Given the description of an element on the screen output the (x, y) to click on. 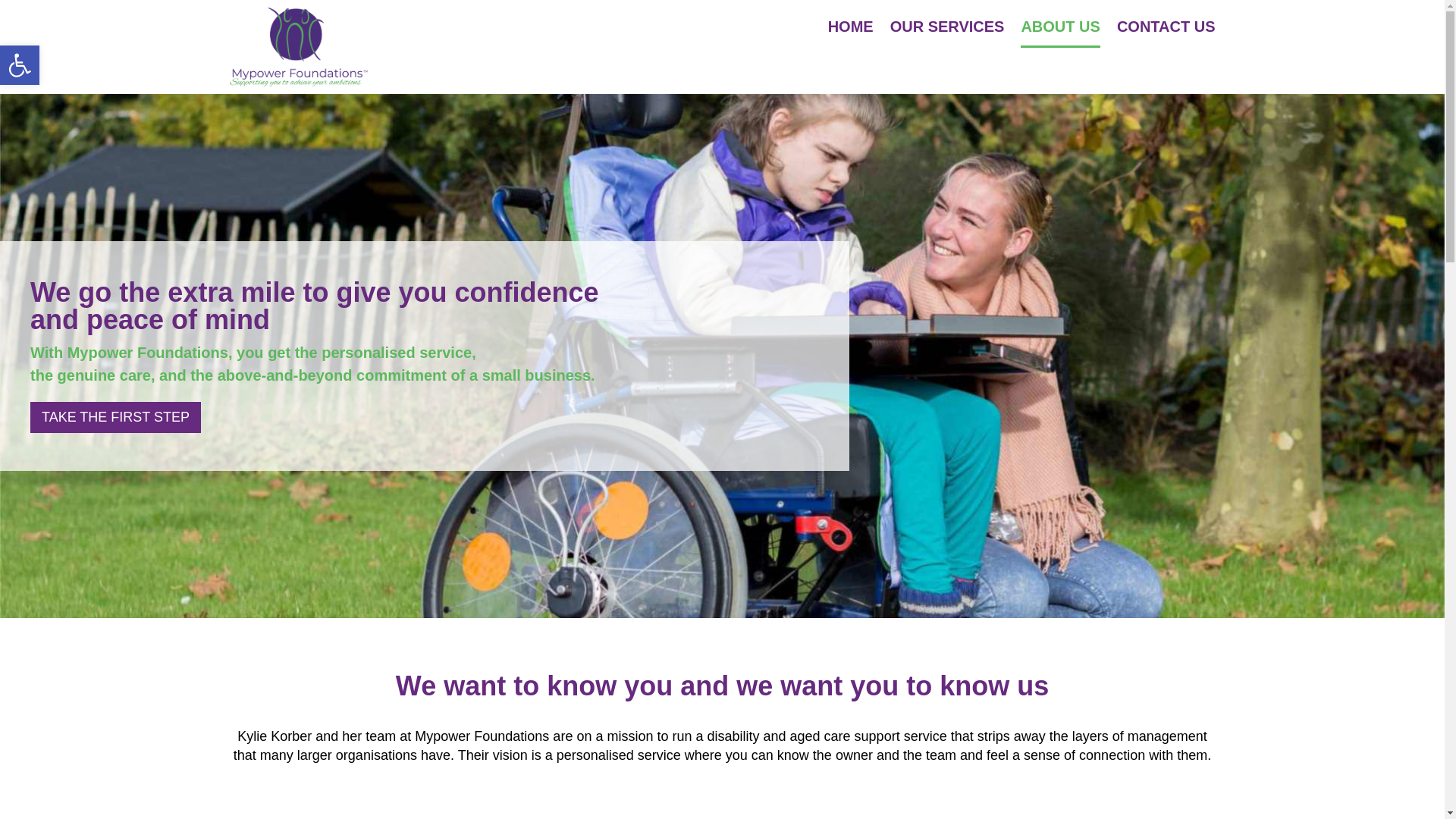
TAKE THE FIRST STEP Element type: text (115, 417)
ABOUT US Element type: text (1059, 27)
HOME Element type: text (850, 26)
CONTACT US Element type: text (1166, 26)
Open toolbar
Accessibility Tools Element type: text (19, 64)
OUR SERVICES Element type: text (947, 26)
